Given the description of an element on the screen output the (x, y) to click on. 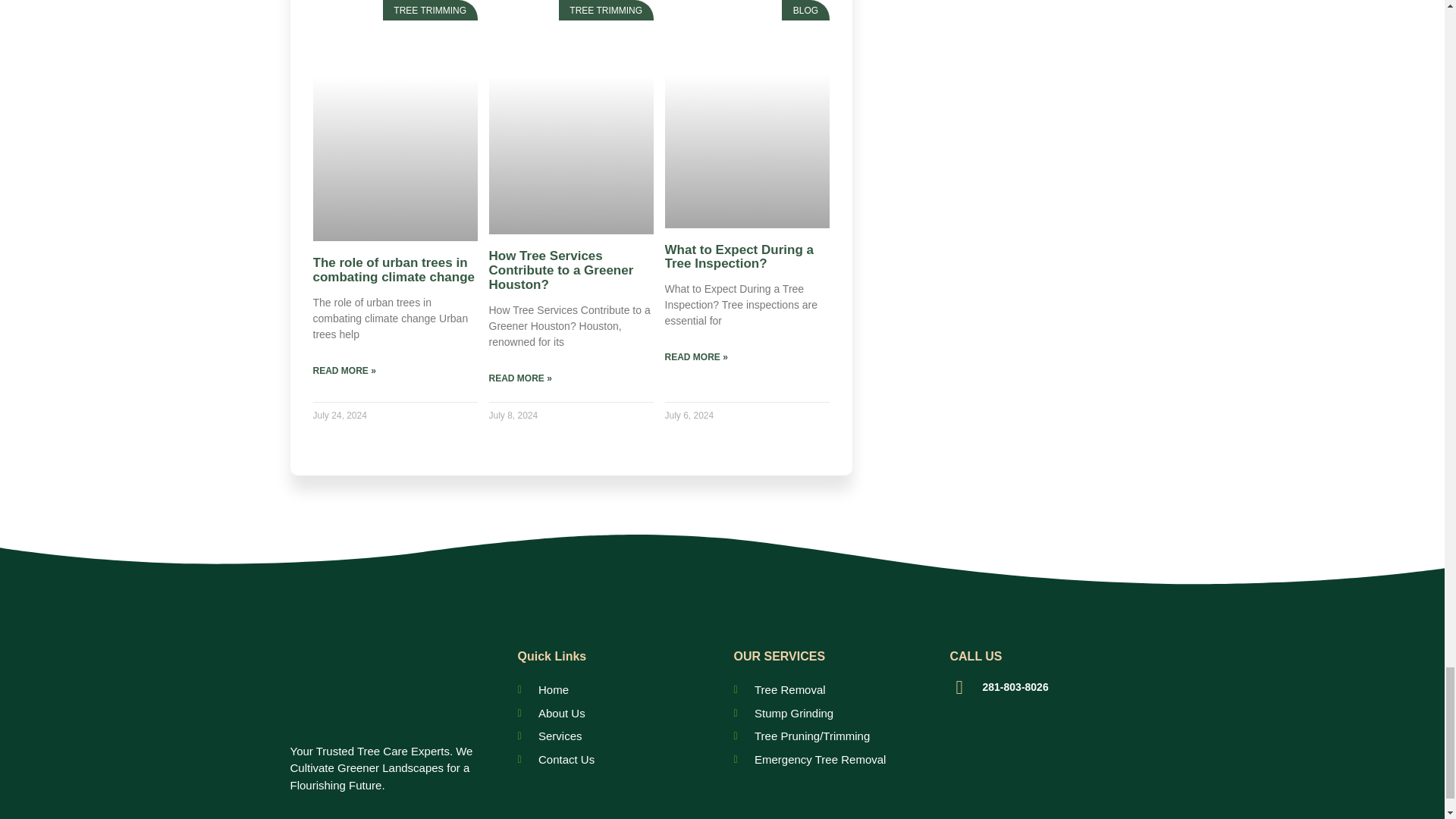
How Tree Services Contribute to a Greener Houston? (560, 269)
The role of urban trees in combating climate change (393, 269)
What to Expect During a Tree Inspection? (737, 256)
